Given the description of an element on the screen output the (x, y) to click on. 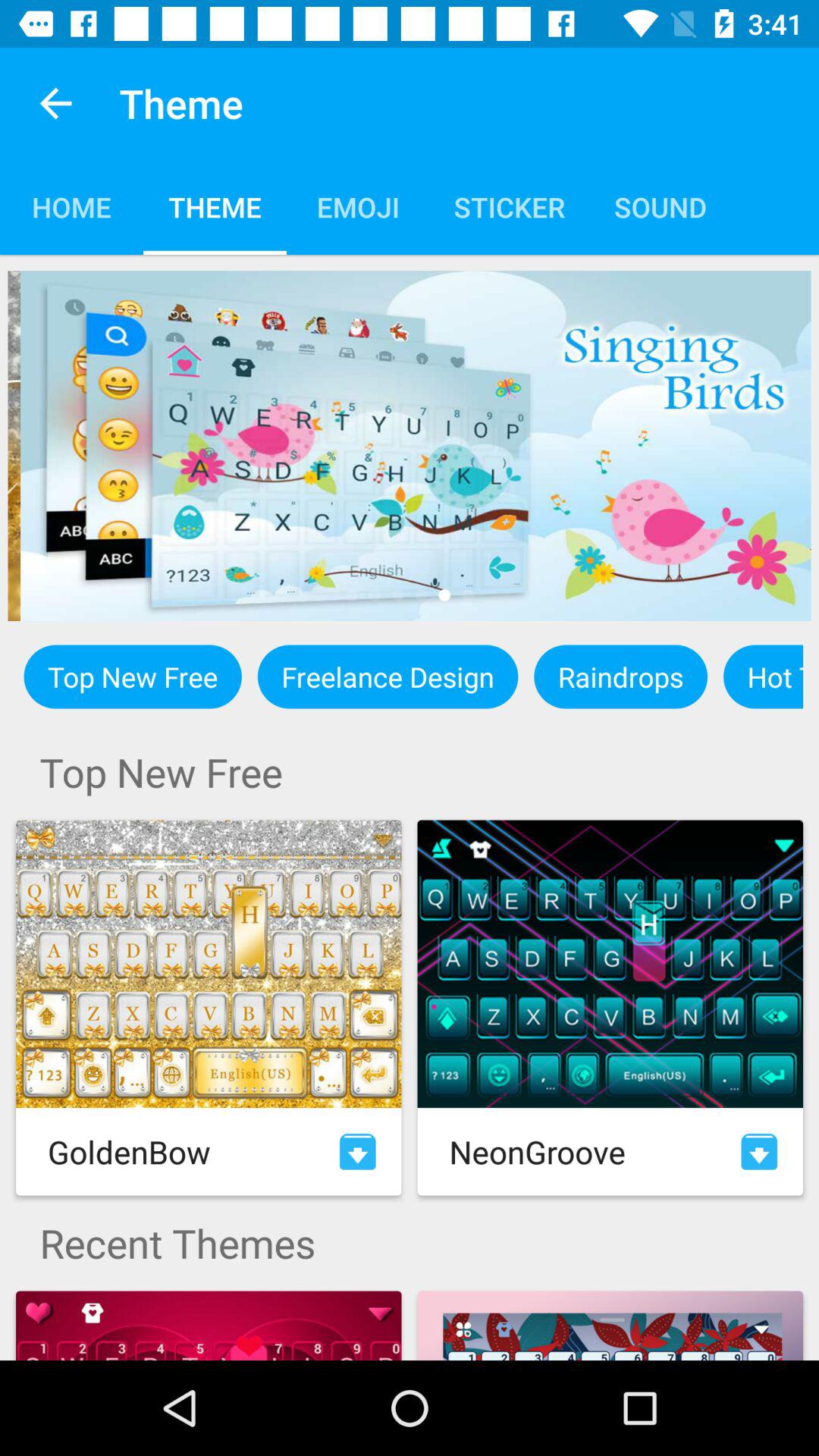
launch item to the right of the freelance design item (620, 676)
